Given the description of an element on the screen output the (x, y) to click on. 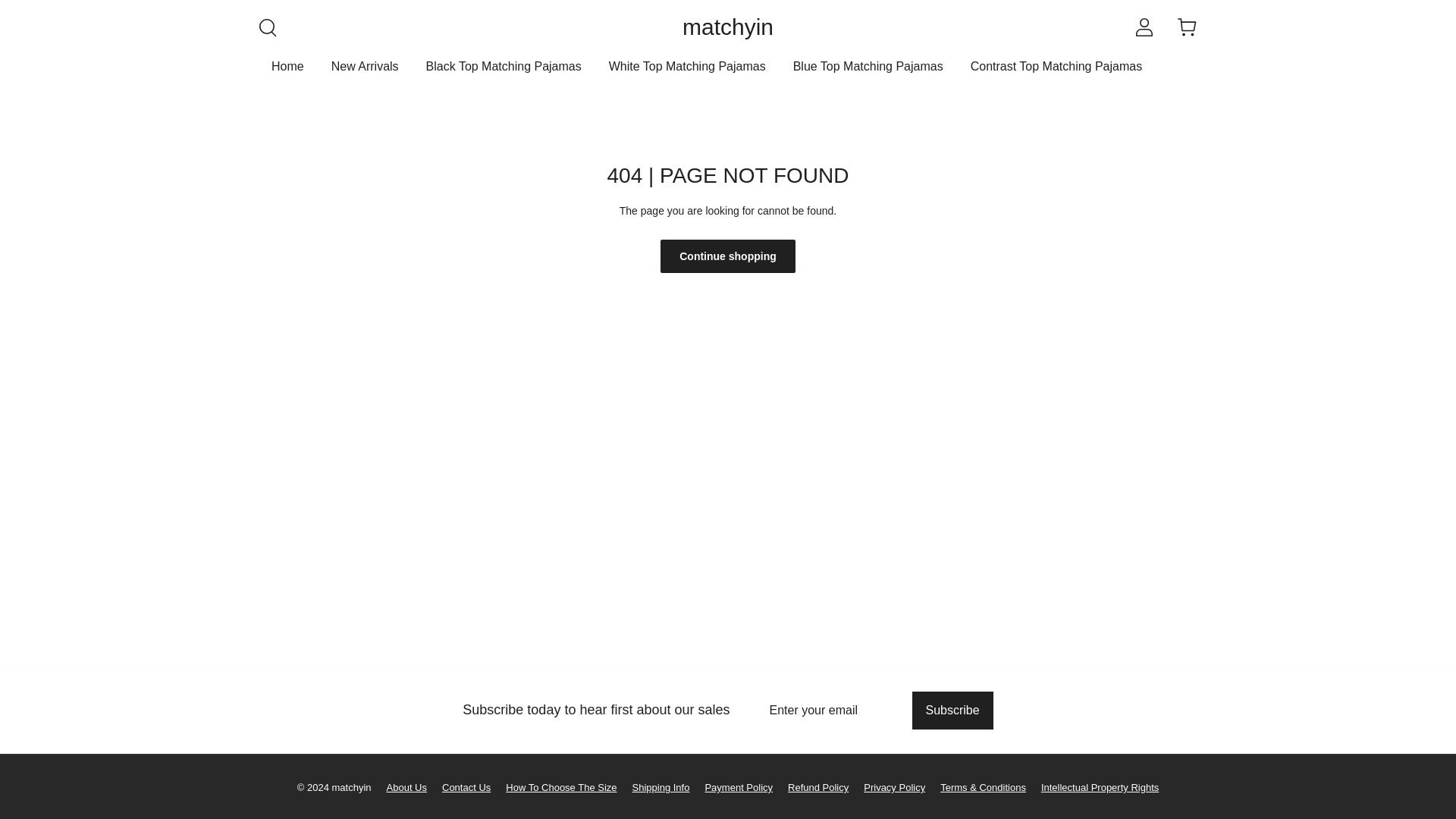
Contrast Top Matching Pajamas (1056, 72)
Contact Us (458, 783)
New Arrivals (364, 72)
Shipping Info (653, 783)
matchyin (727, 26)
Intellectual Property Rights (1092, 783)
White Top Matching Pajamas (686, 72)
Continue shopping (727, 255)
Subscribe (952, 710)
How To Choose The Size (552, 783)
About Us (398, 783)
Payment Policy (730, 783)
Privacy Policy (886, 783)
Black Top Matching Pajamas (503, 72)
Refund Policy (810, 783)
